Given the description of an element on the screen output the (x, y) to click on. 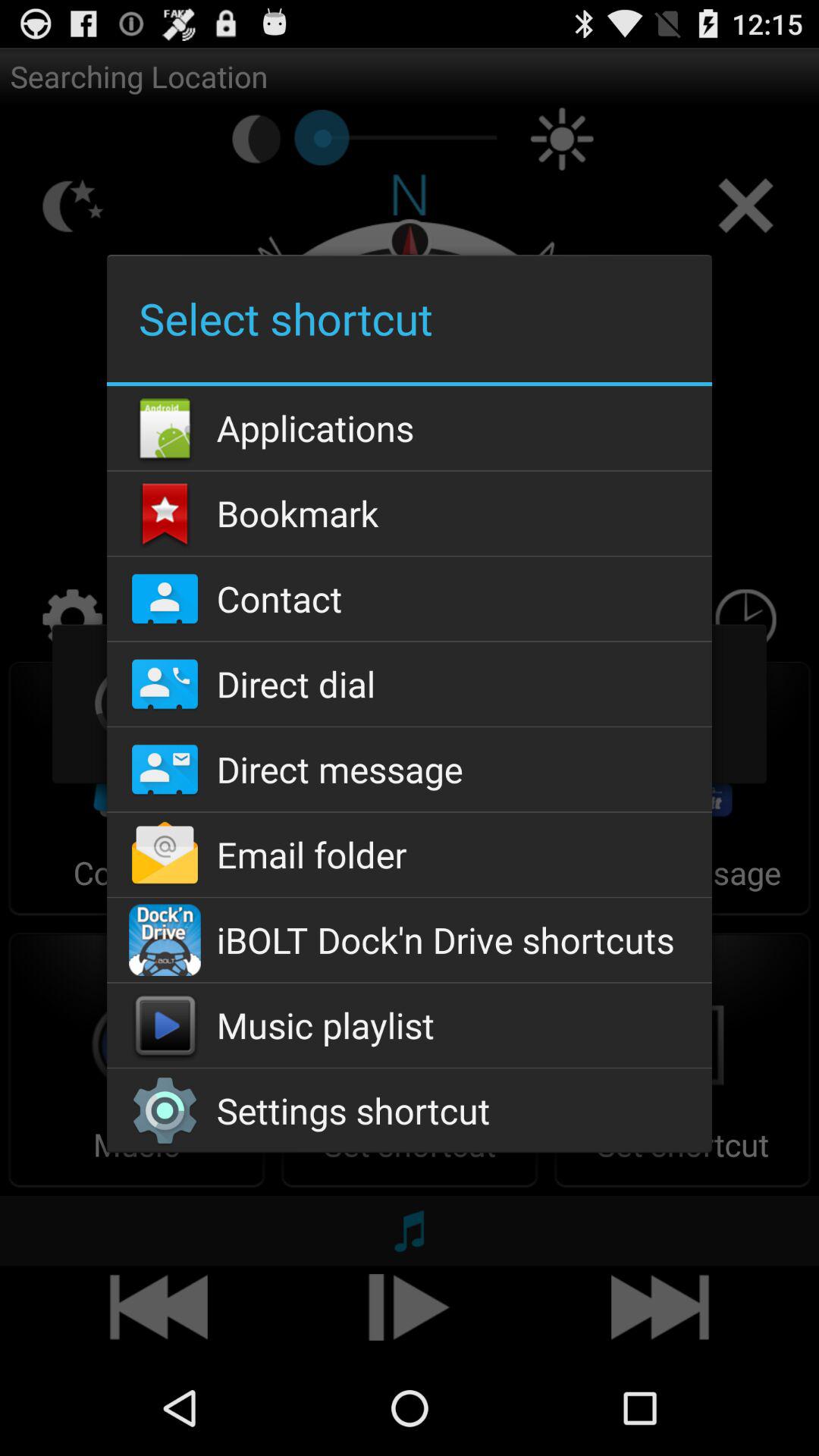
select the app below email folder (409, 940)
